Given the description of an element on the screen output the (x, y) to click on. 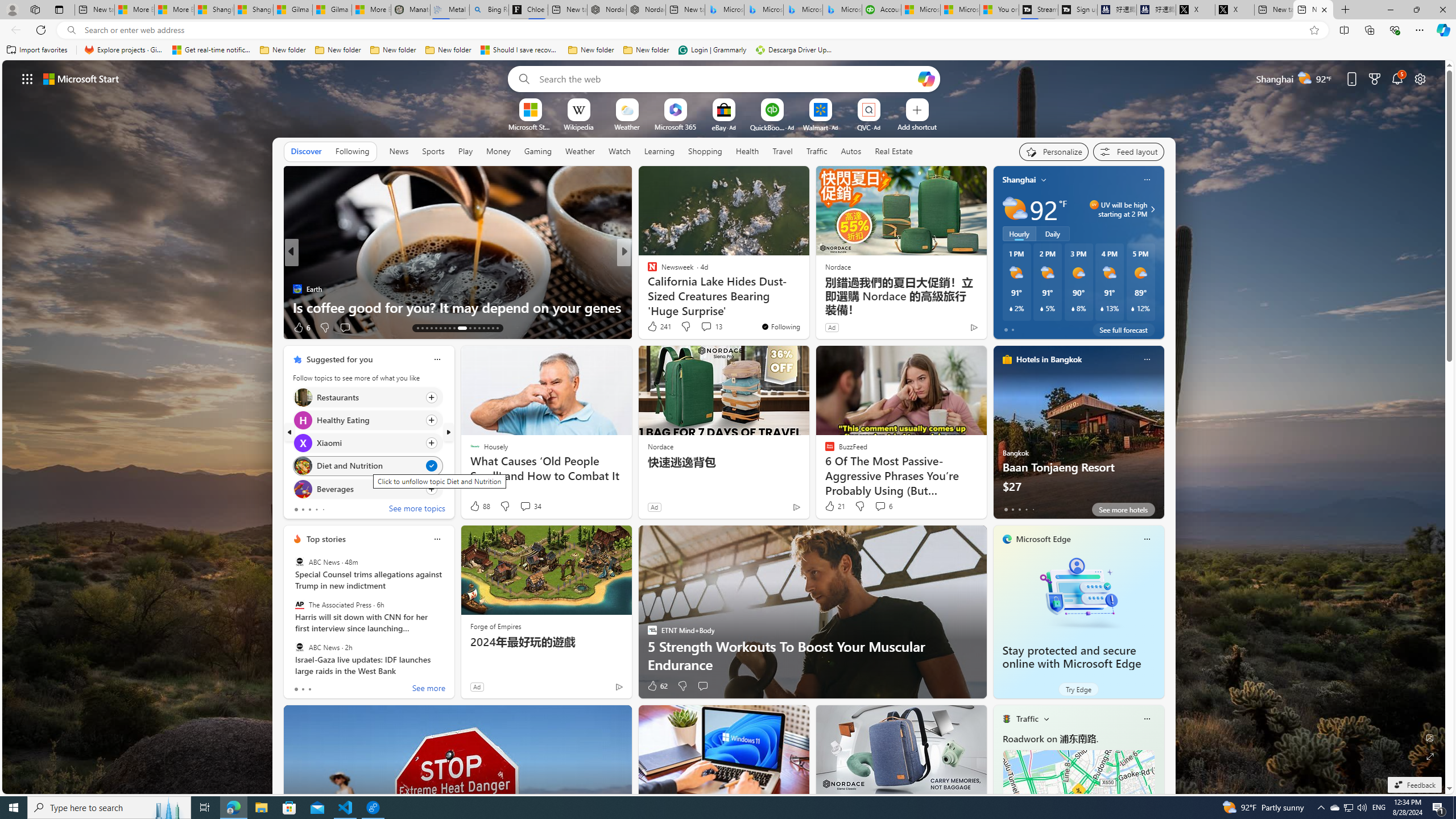
AutomationID: tab-26 (483, 328)
Travel (782, 151)
Class: weather-current-precipitation-glyph (1133, 308)
AutomationID: tab-14 (422, 328)
USA TODAY College Sports Wire (647, 270)
Click to follow topic Restaurants (367, 397)
Edit Background (1430, 737)
Click to unfollow topic Diet and Nutrition (367, 465)
Watch (619, 151)
tab-3 (1025, 509)
Ad Choice (619, 686)
Descarga Driver Updater (794, 49)
